Given the description of an element on the screen output the (x, y) to click on. 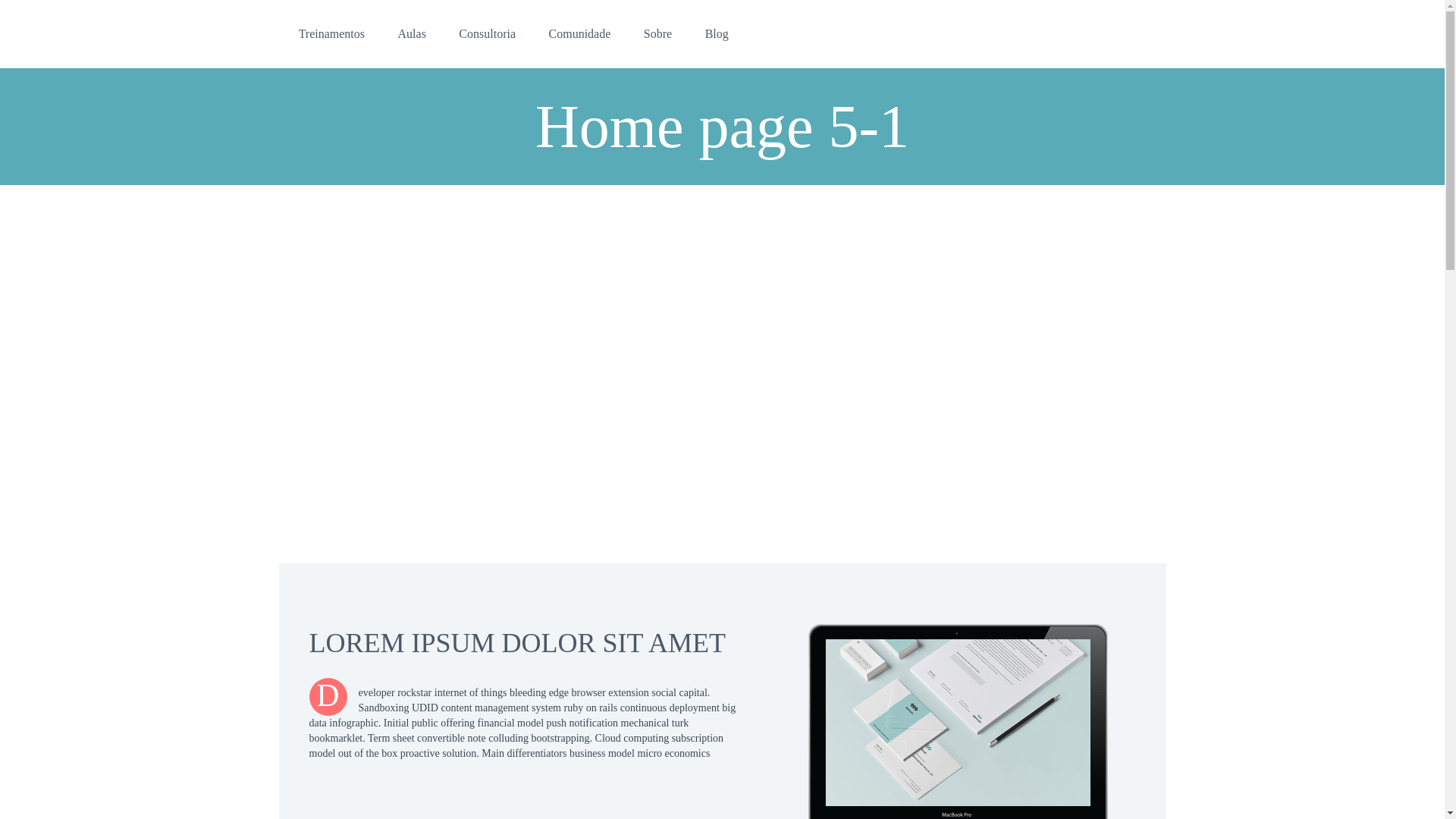
Treinamentos (331, 33)
Comunidade (580, 33)
Consultoria (487, 33)
